Given the description of an element on the screen output the (x, y) to click on. 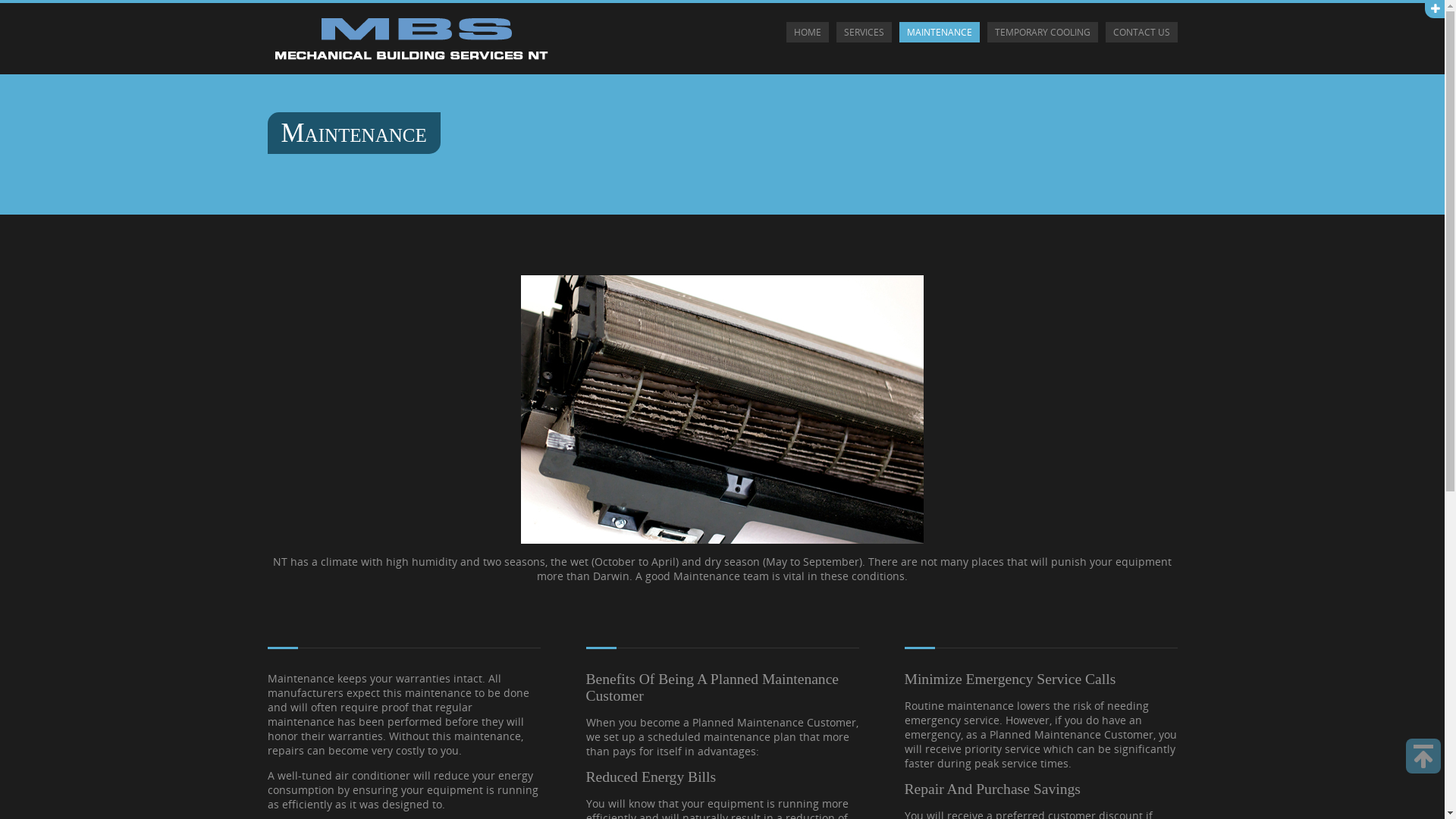
CONTACT US Element type: text (1141, 31)
MAINTENANCE Element type: text (939, 31)
HOME Element type: text (806, 31)
TEMPORARY COOLING Element type: text (1042, 31)
SERVICES Element type: text (863, 31)
Back To Top Element type: hover (1422, 755)
